Given the description of an element on the screen output the (x, y) to click on. 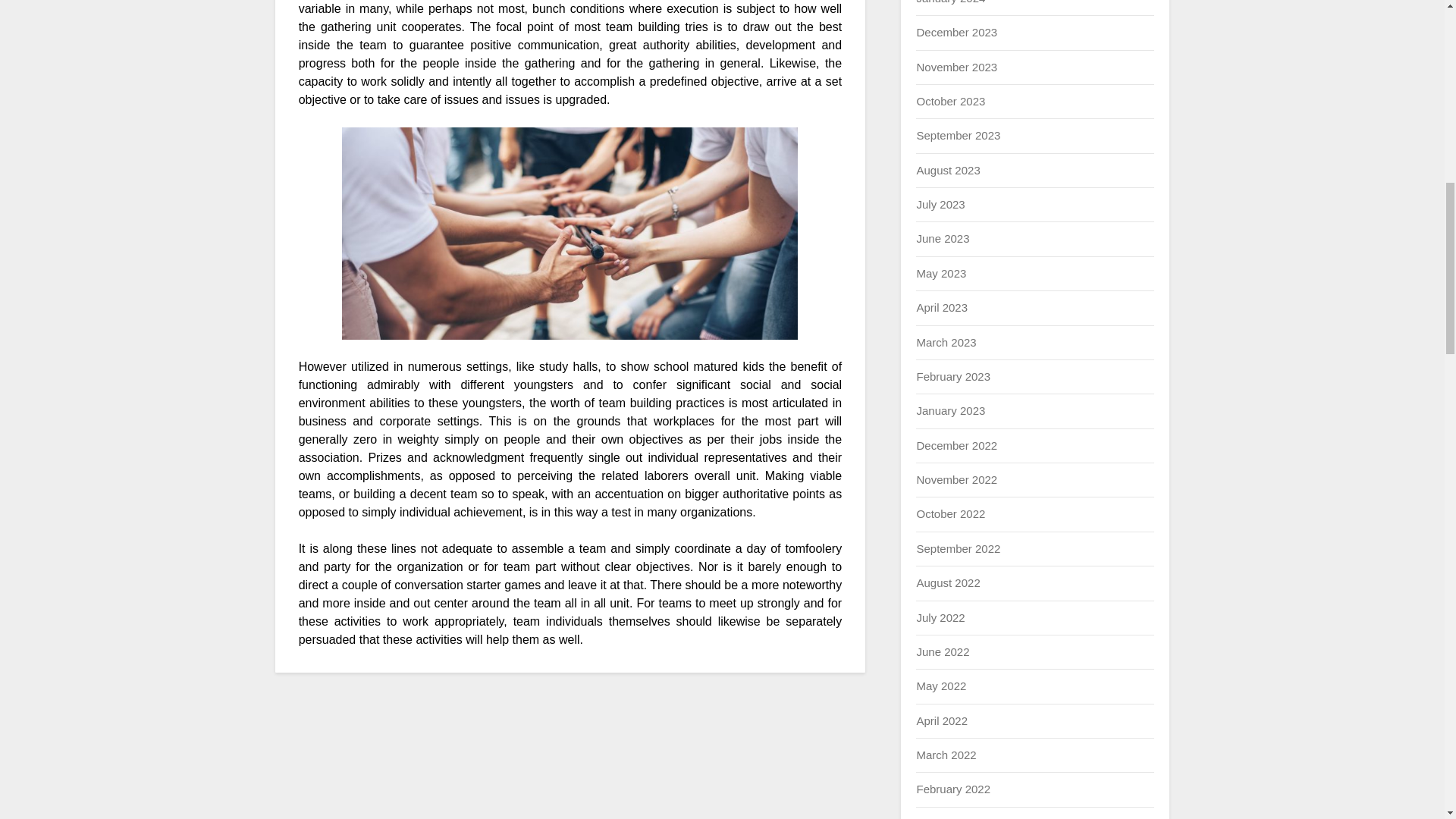
November 2022 (956, 479)
July 2022 (939, 617)
March 2022 (945, 754)
December 2023 (956, 31)
August 2022 (947, 582)
January 2023 (950, 410)
February 2023 (952, 376)
September 2023 (957, 134)
August 2023 (947, 169)
May 2022 (940, 685)
June 2022 (942, 651)
April 2022 (941, 720)
October 2022 (950, 513)
January 2024 (950, 2)
November 2023 (956, 66)
